Given the description of an element on the screen output the (x, y) to click on. 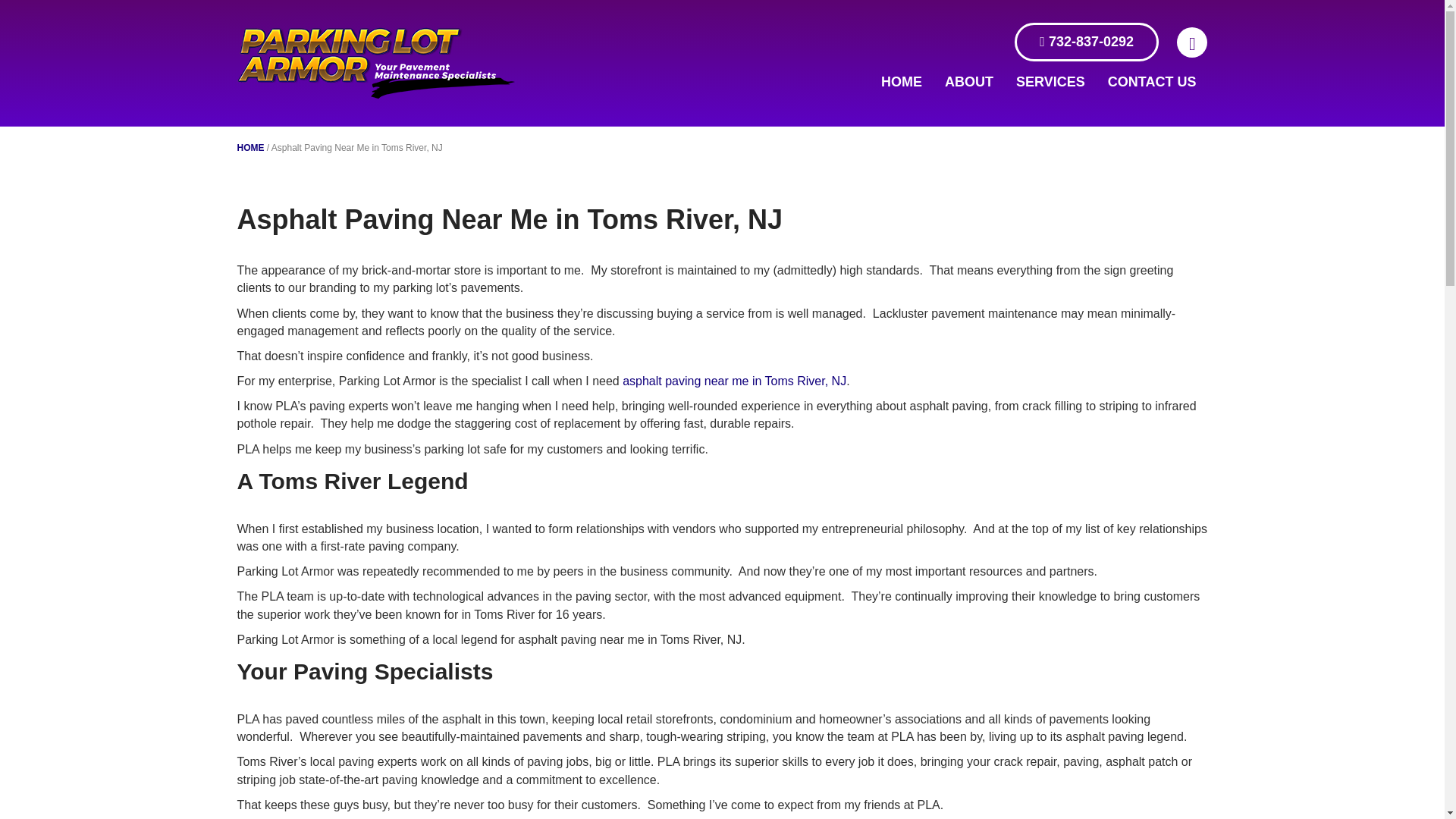
HOME (249, 147)
CONTACT US (1152, 82)
732-837-0292 (1086, 41)
asphalt paving near me in Toms River, NJ (734, 380)
ABOUT (968, 82)
HOME (901, 82)
SERVICES (1050, 82)
